Given the description of an element on the screen output the (x, y) to click on. 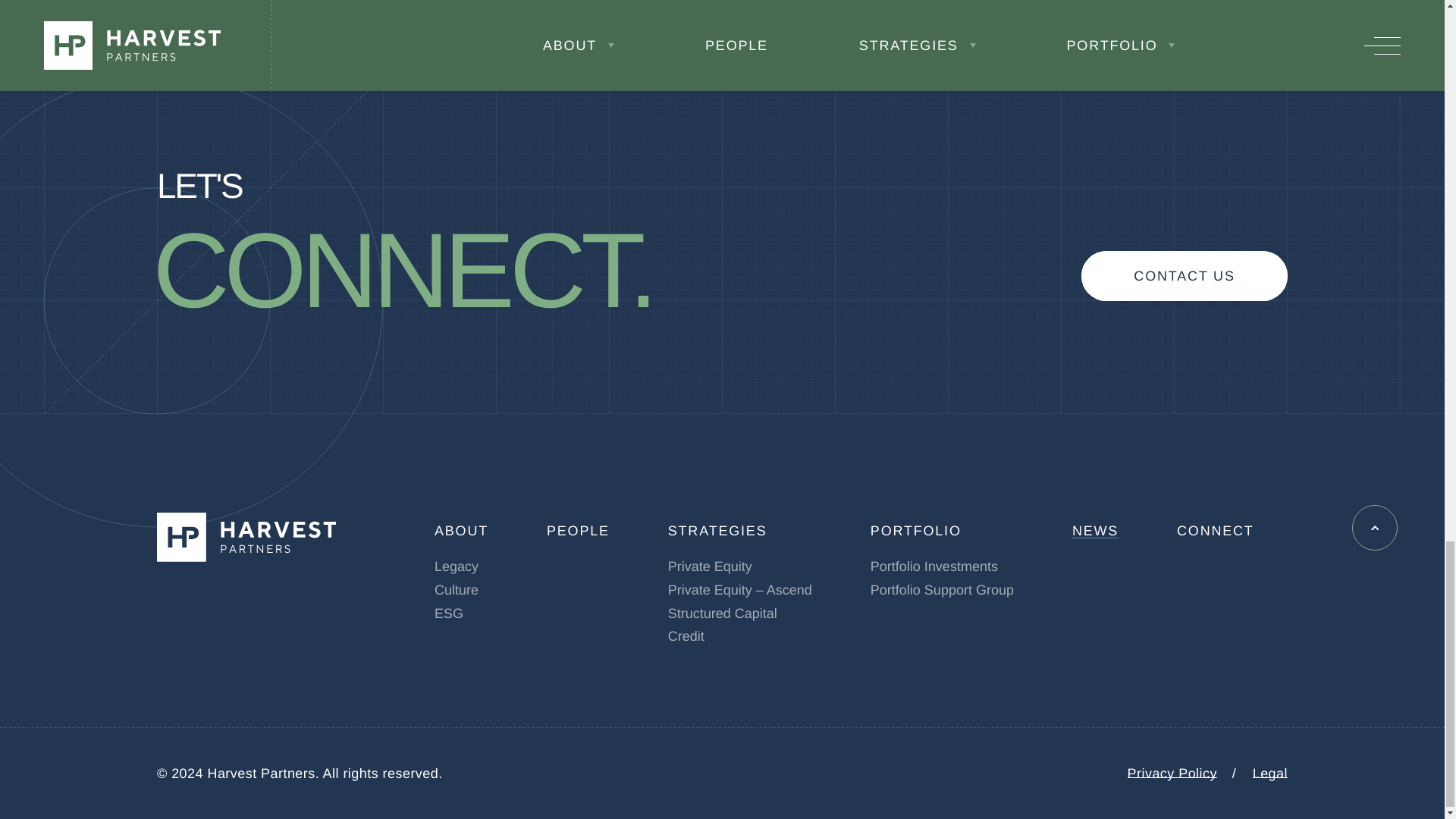
Structured Capital (722, 613)
ABOUT (460, 530)
STRATEGIES (717, 530)
Legacy (456, 566)
ESG (448, 613)
PEOPLE (578, 530)
Credit (686, 635)
Culture (456, 589)
Portfolio Support Group (941, 589)
CONTACT US (1184, 275)
